Given the description of an element on the screen output the (x, y) to click on. 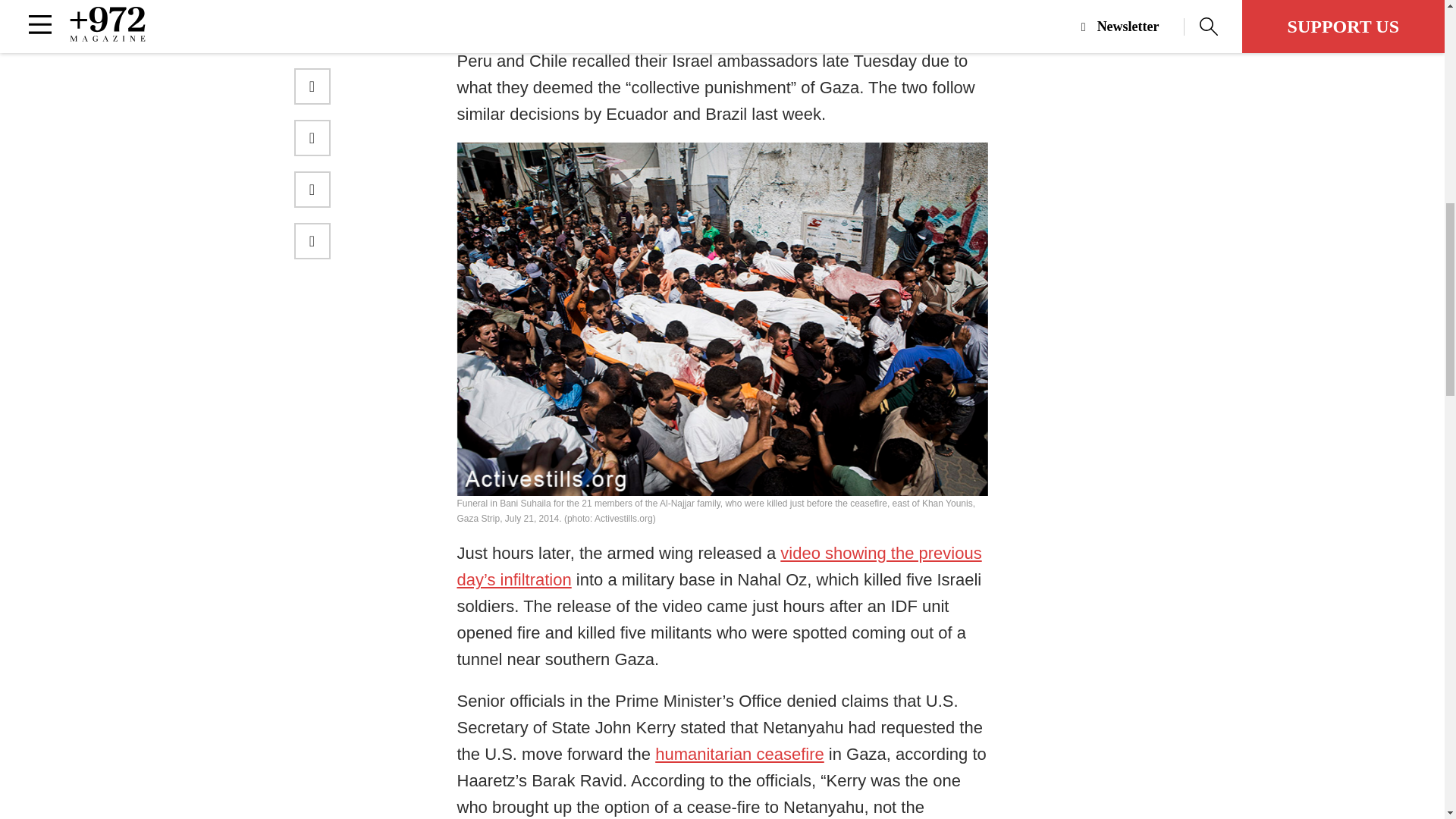
humanitarian ceasefire (739, 753)
